Given the description of an element on the screen output the (x, y) to click on. 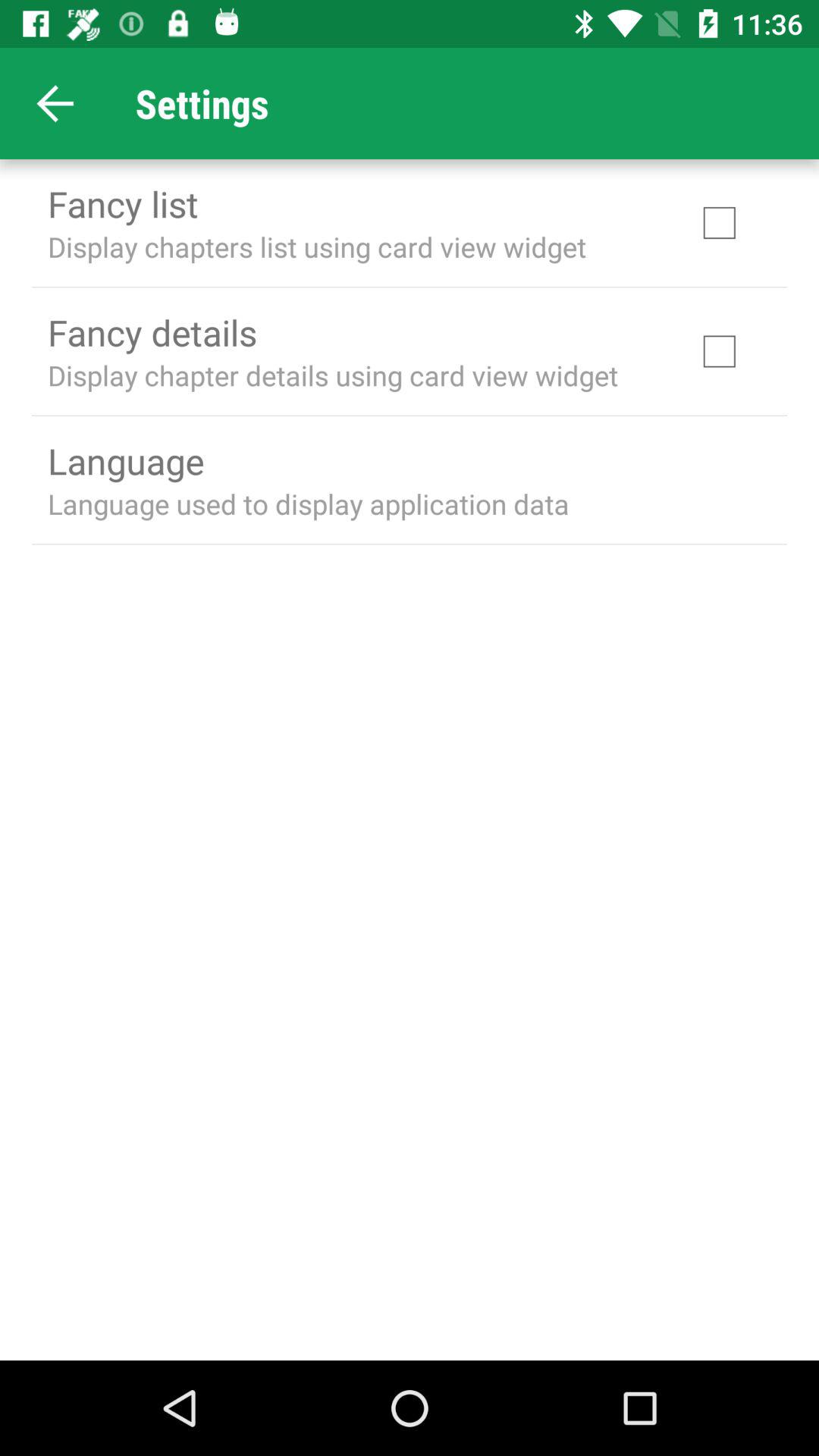
open item above language (332, 375)
